Given the description of an element on the screen output the (x, y) to click on. 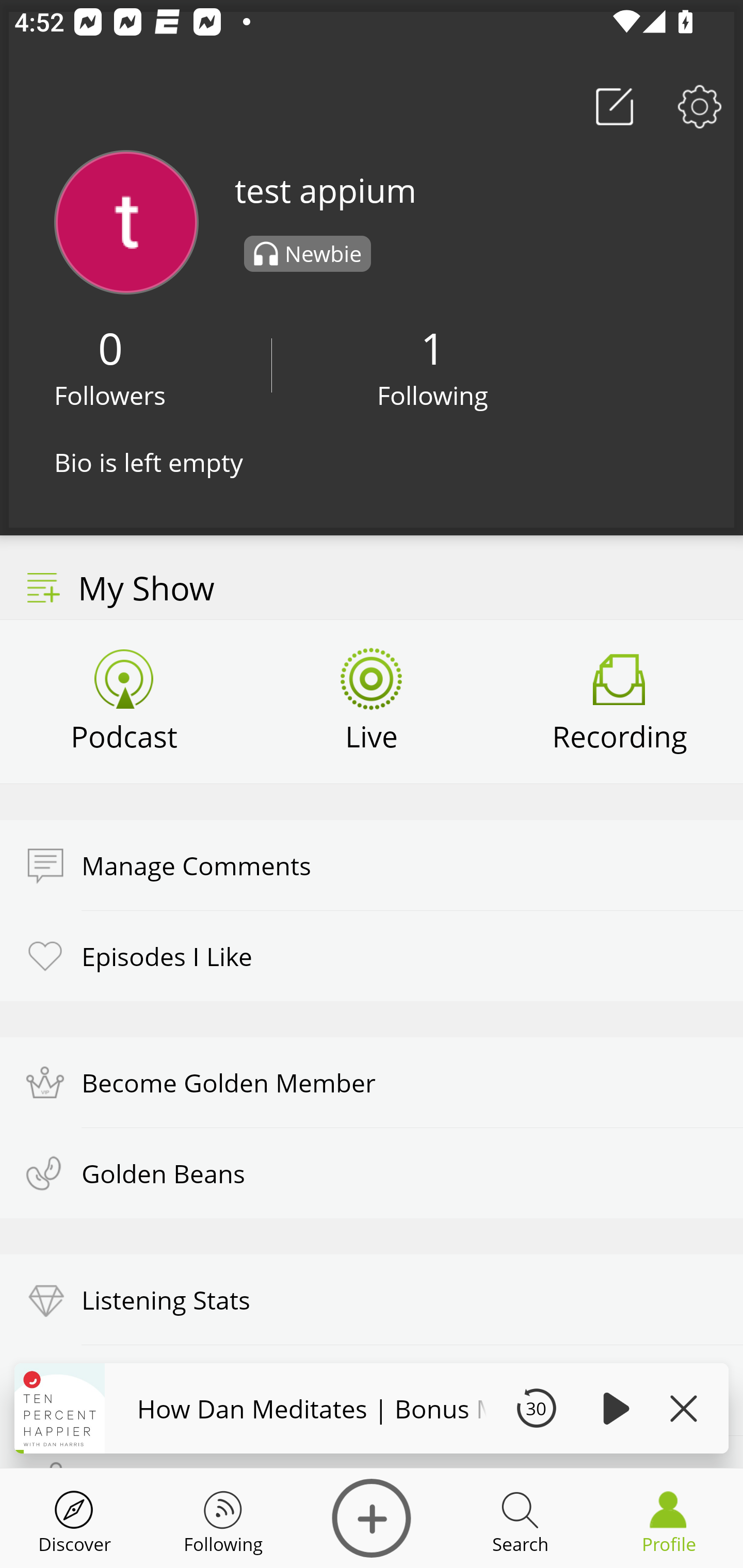
Settings (699, 106)
0 (110, 347)
1 (432, 347)
Followers (110, 394)
Following (432, 394)
Manage Comments (371, 865)
Episodes I Like (371, 955)
Become Golden Member (371, 1082)
Golden Beans (371, 1172)
Listening Stats (371, 1299)
Play (613, 1407)
30 Seek Backward (536, 1407)
Discover (74, 1518)
Discover Following (222, 1518)
Discover (371, 1518)
Discover Search (519, 1518)
